Given the description of an element on the screen output the (x, y) to click on. 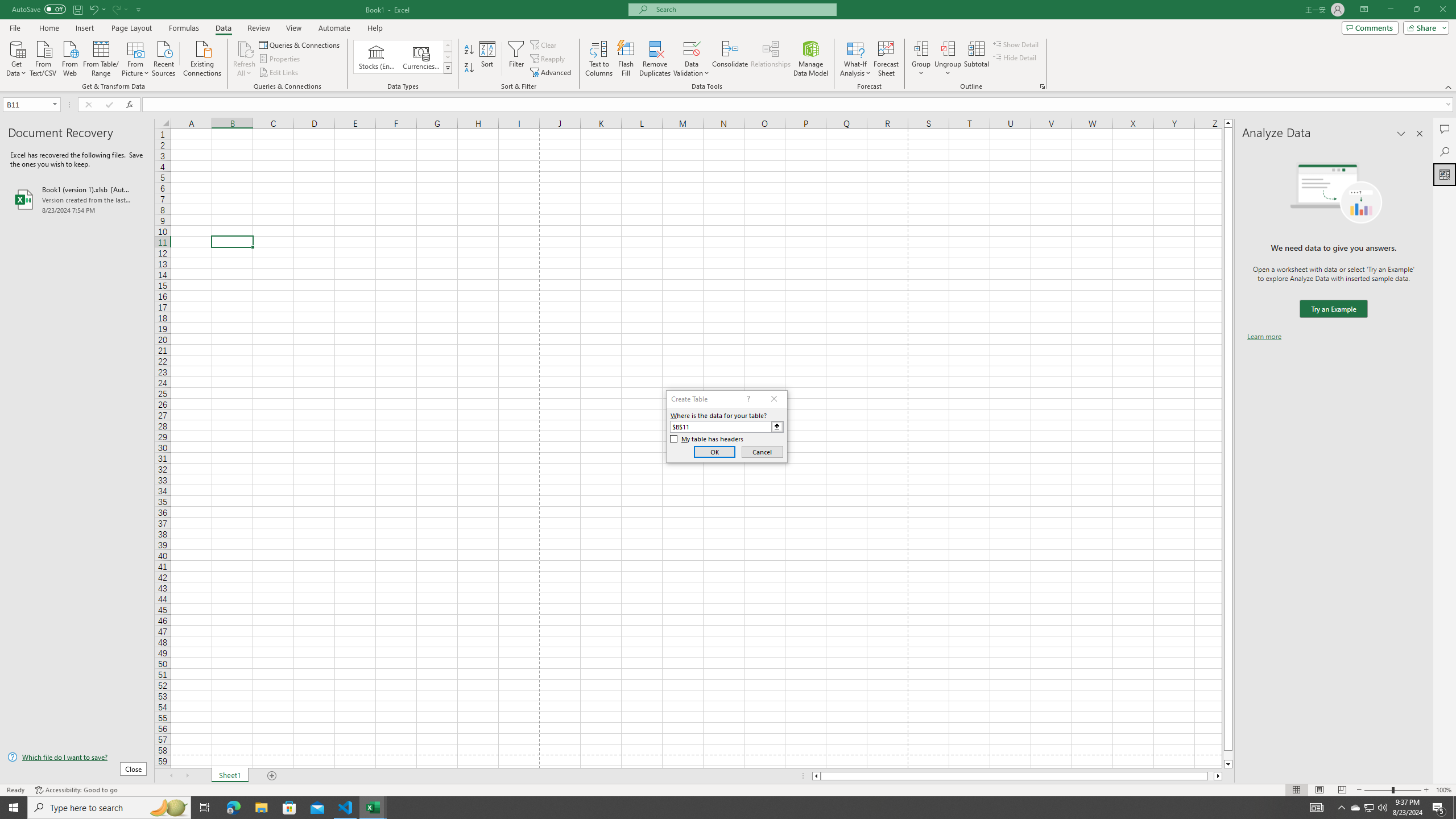
Sort Z to A (469, 67)
Microsoft search (742, 9)
From Text/CSV (43, 57)
From Web (69, 57)
What-If Analysis (855, 58)
We need data to give you answers. Try an Example (1333, 308)
